Given the description of an element on the screen output the (x, y) to click on. 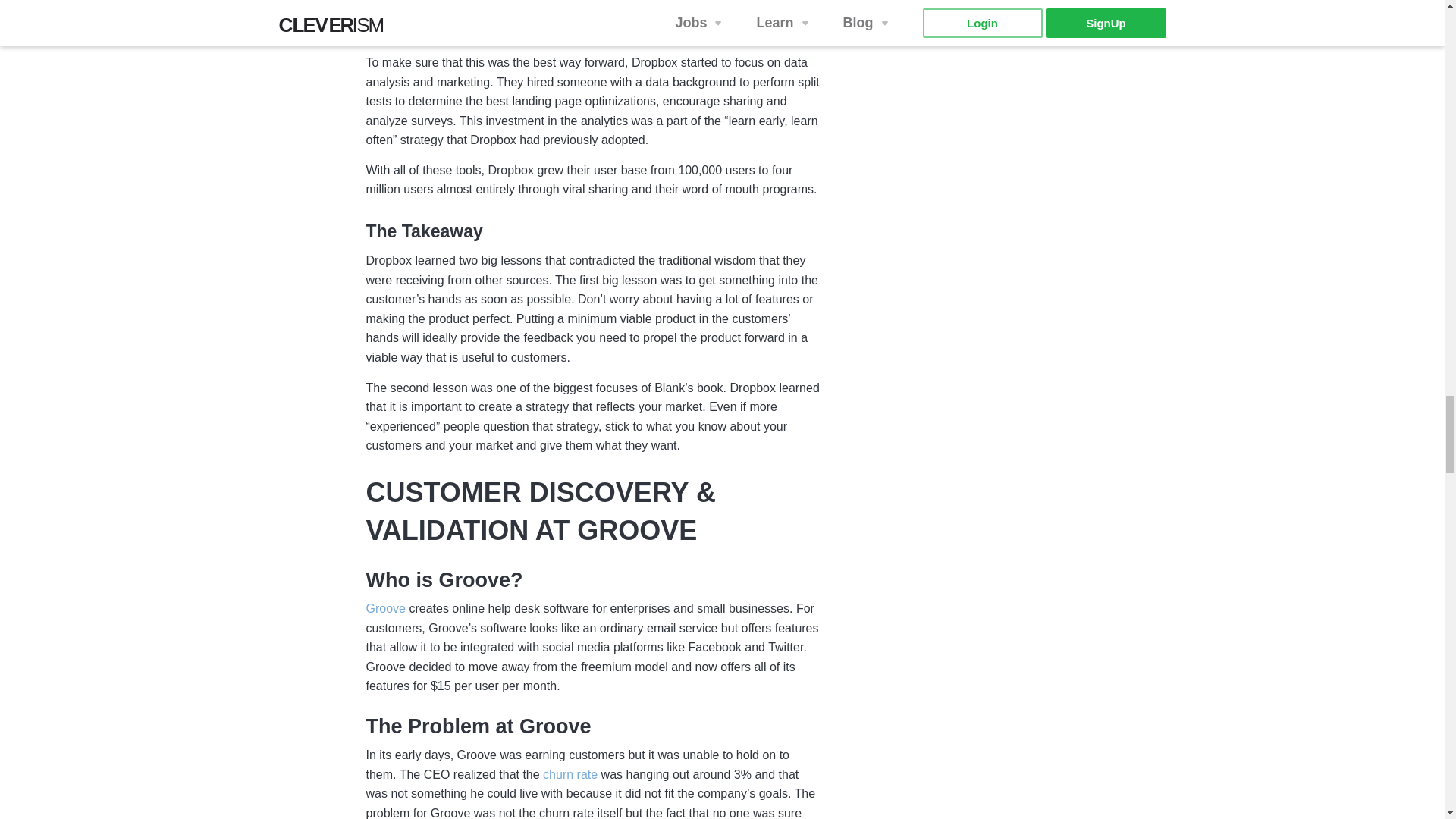
churn rate (571, 775)
Groove (384, 609)
